Given the description of an element on the screen output the (x, y) to click on. 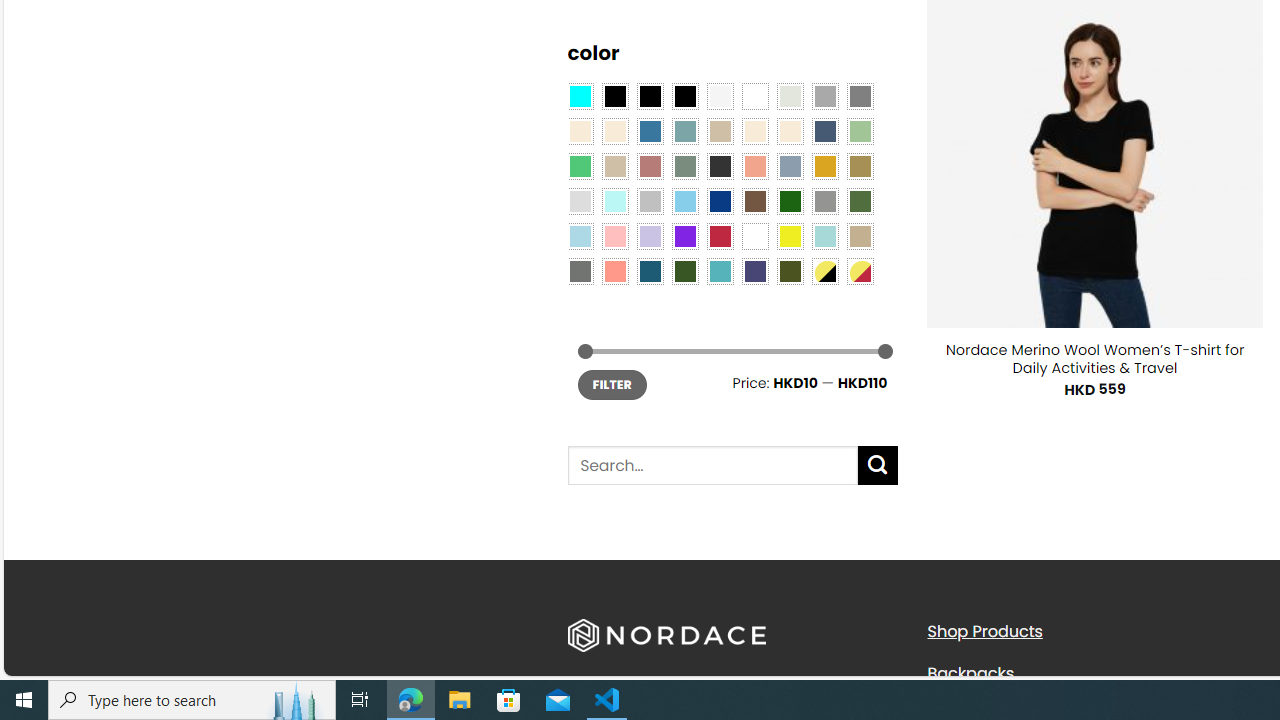
Navy Blue (719, 200)
Brownie (719, 131)
Red (719, 236)
Khaki (859, 236)
Dull Nickle (579, 270)
Silver (650, 200)
Light Taupe (614, 165)
Forest (684, 270)
All Gray (859, 95)
Yellow-Red (859, 270)
Sky Blue (684, 200)
Kelp (859, 165)
Clear (755, 95)
Beige-Brown (614, 131)
